Given the description of an element on the screen output the (x, y) to click on. 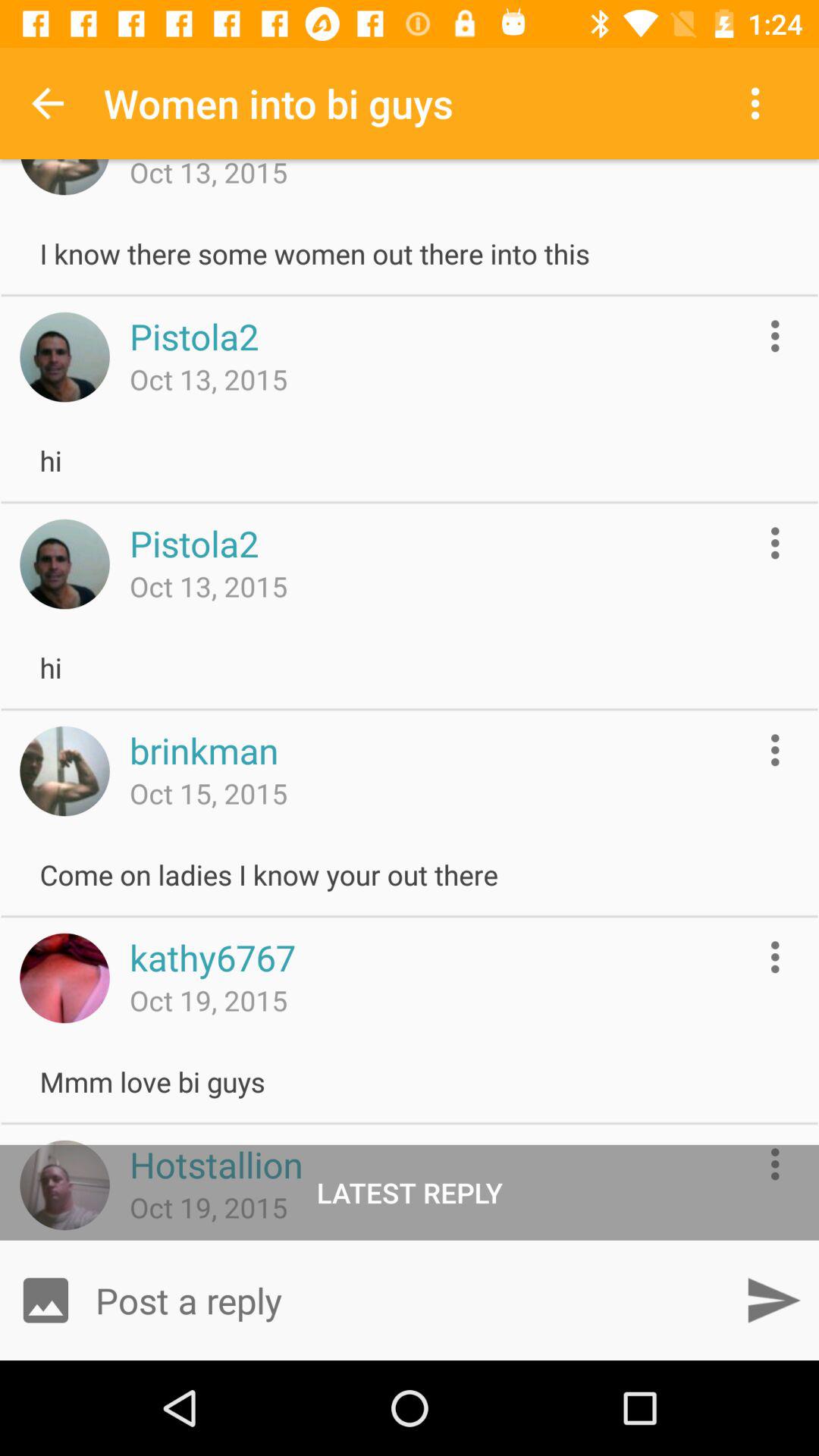
post a reply (409, 1300)
